Given the description of an element on the screen output the (x, y) to click on. 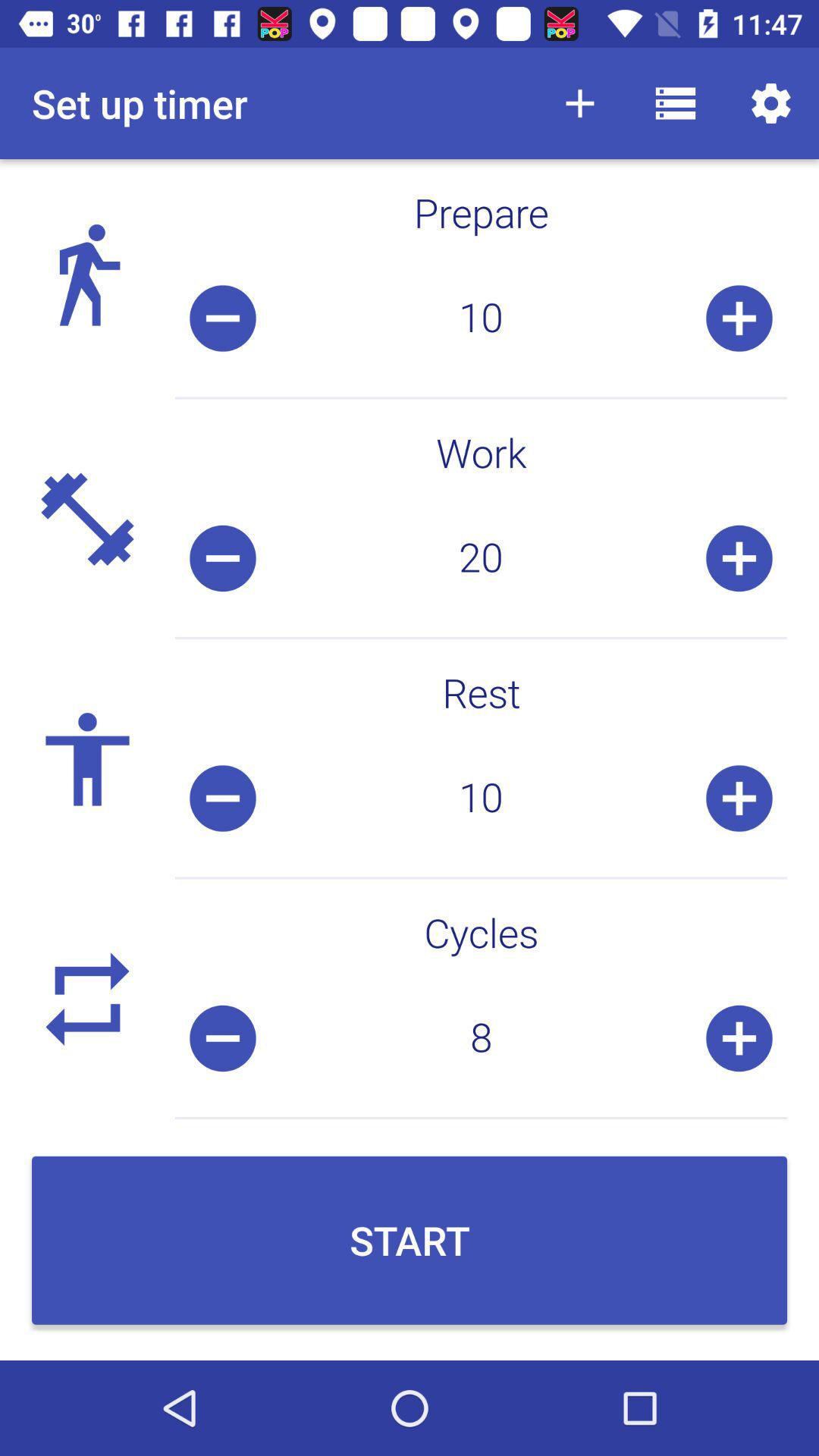
launch item below the cycles (480, 1038)
